Given the description of an element on the screen output the (x, y) to click on. 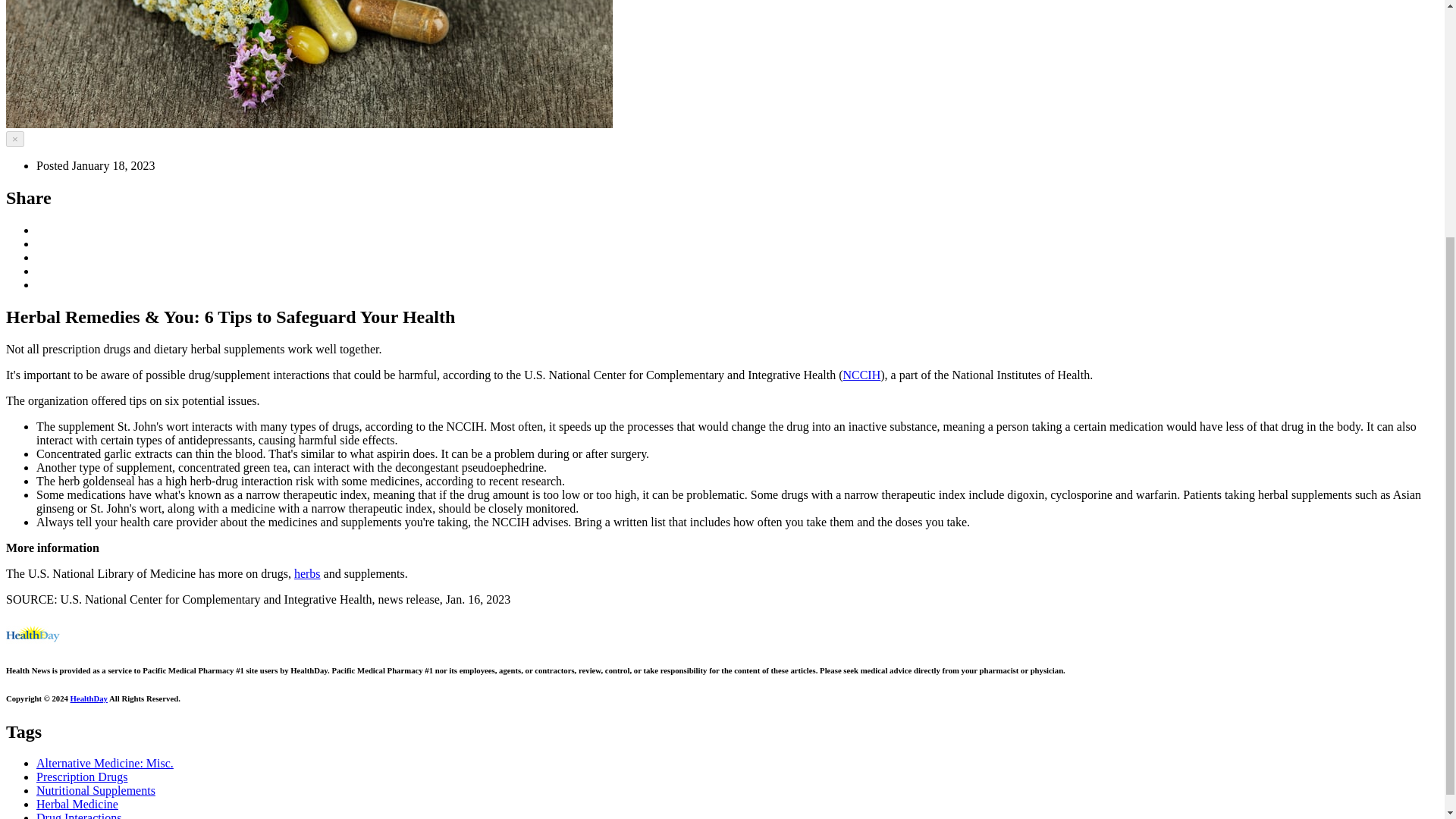
HealthDay (88, 697)
Herbal Medicine (76, 803)
Prescription Drugs (82, 776)
herbs (307, 573)
Nutritional Supplements (95, 789)
NCCIH (861, 374)
Alternative Medicine: Misc. (104, 762)
